Given the description of an element on the screen output the (x, y) to click on. 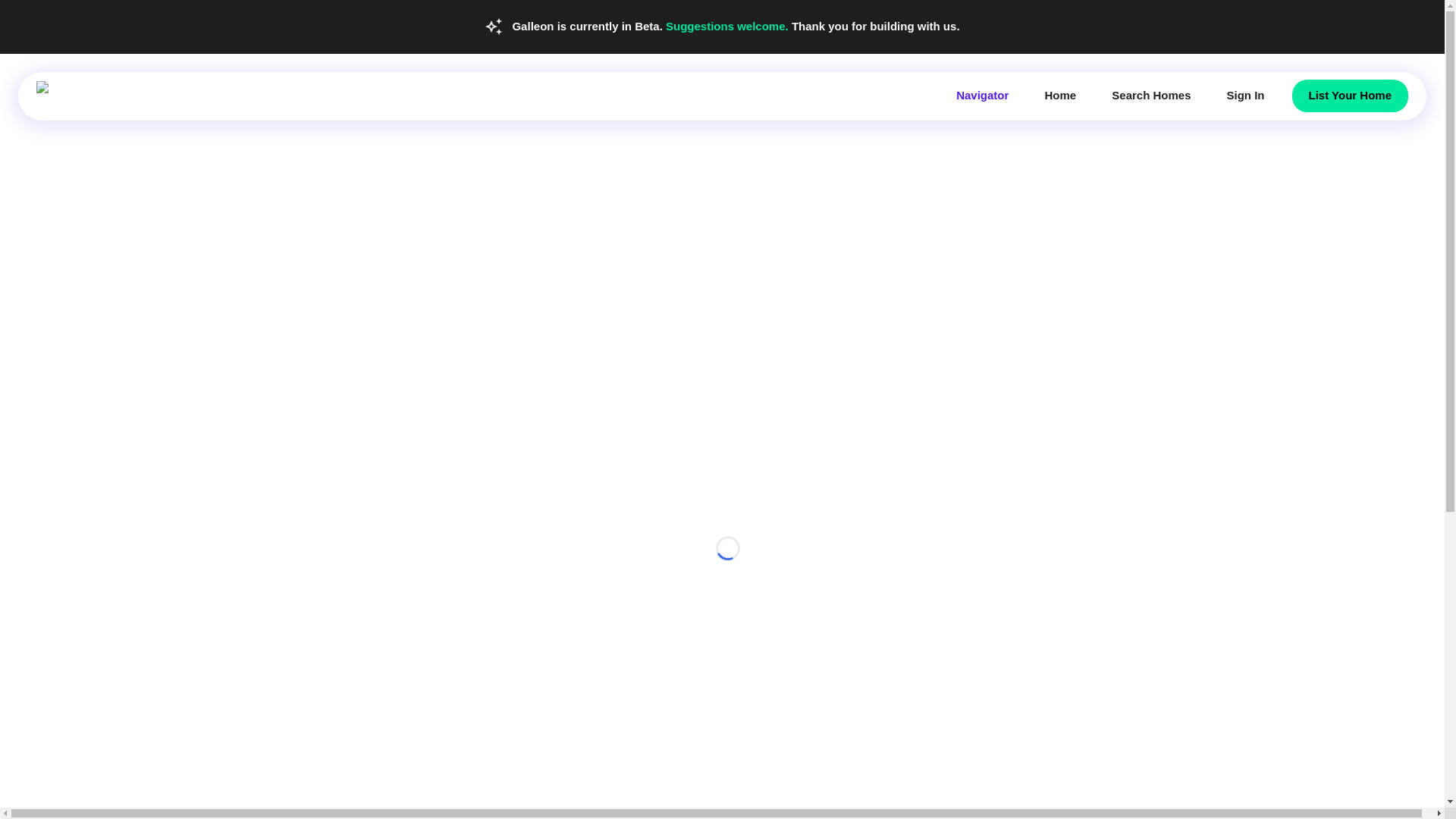
Navigator (981, 95)
Sign In (1245, 95)
Suggestions welcome. (728, 25)
Search Homes (1150, 95)
Home (1059, 95)
List Your Home (1349, 95)
